Given the description of an element on the screen output the (x, y) to click on. 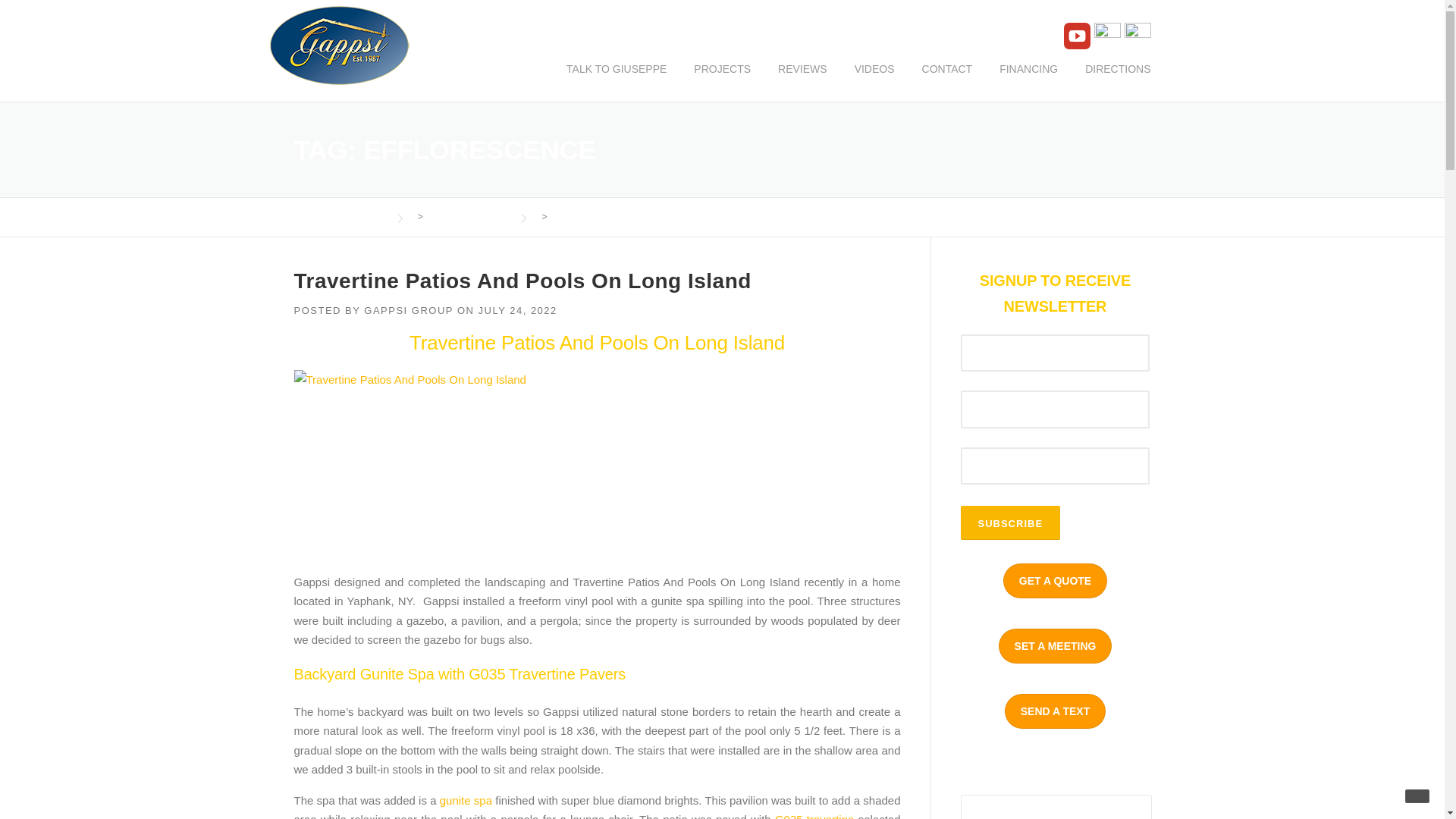
Gappsi Group (338, 43)
FINANCING (1028, 80)
JULY 24, 2022 (516, 310)
G035 travertine (813, 816)
Gappsi Group (339, 216)
GET A QUOTE (1054, 580)
VIDEOS (874, 80)
Contact Us Form Page (1055, 645)
Subscribe (1009, 522)
TALK TO GIUSEPPE (616, 80)
gunite spa (465, 799)
REVIEWS (802, 80)
Go to Gappsi Group. (339, 216)
Contact Us Form Page (1054, 580)
CONTACT (947, 80)
